Given the description of an element on the screen output the (x, y) to click on. 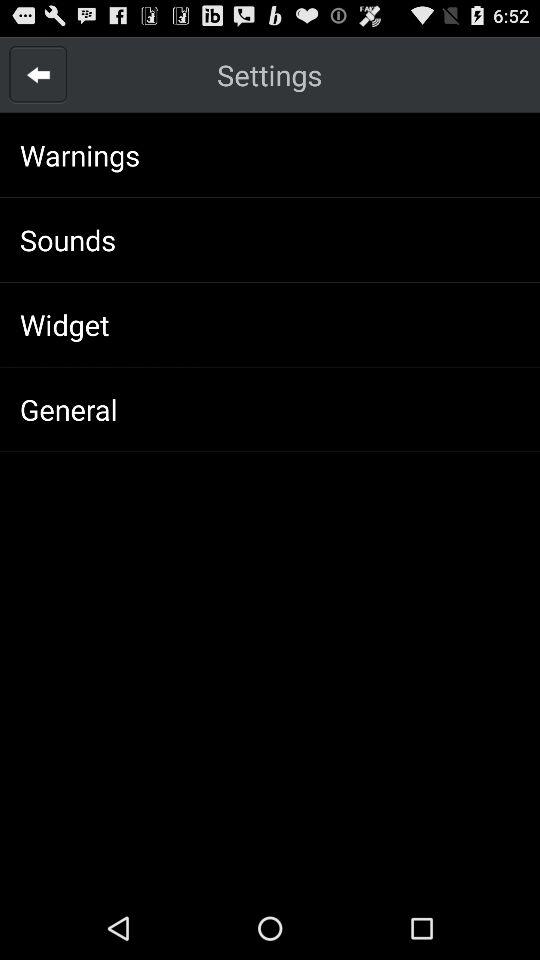
turn off general app (68, 409)
